Given the description of an element on the screen output the (x, y) to click on. 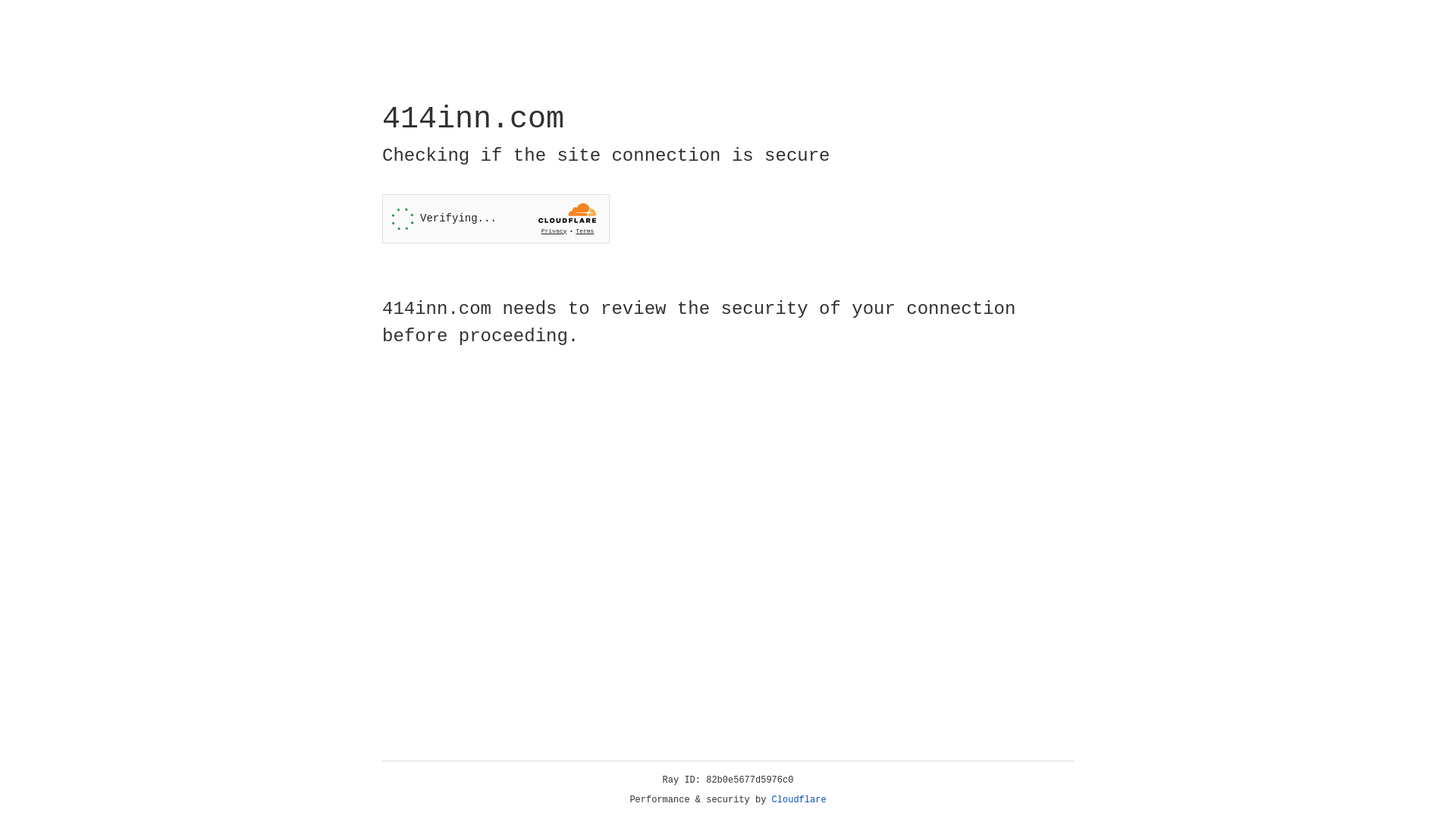
Widget containing a Cloudflare security challenge Element type: hover (495, 218)
Cloudflare Element type: text (798, 799)
